Given the description of an element on the screen output the (x, y) to click on. 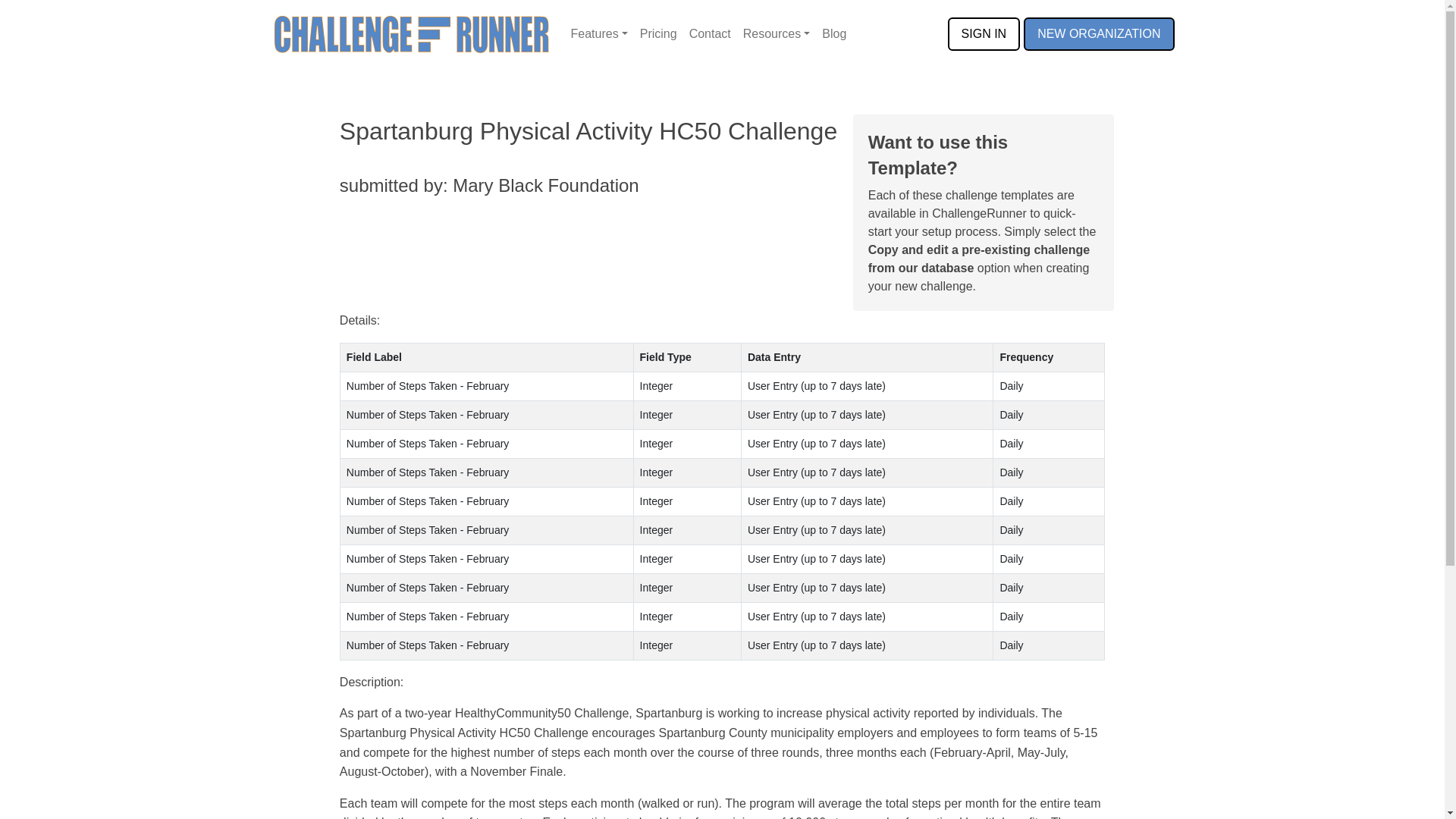
Contact (709, 33)
Pricing Page (657, 33)
Resources (776, 33)
SIGN IN (983, 33)
Contact Us (709, 33)
Pricing (657, 33)
NEW ORGANIZATION (1098, 33)
Features (598, 33)
Blog (833, 33)
